Given the description of an element on the screen output the (x, y) to click on. 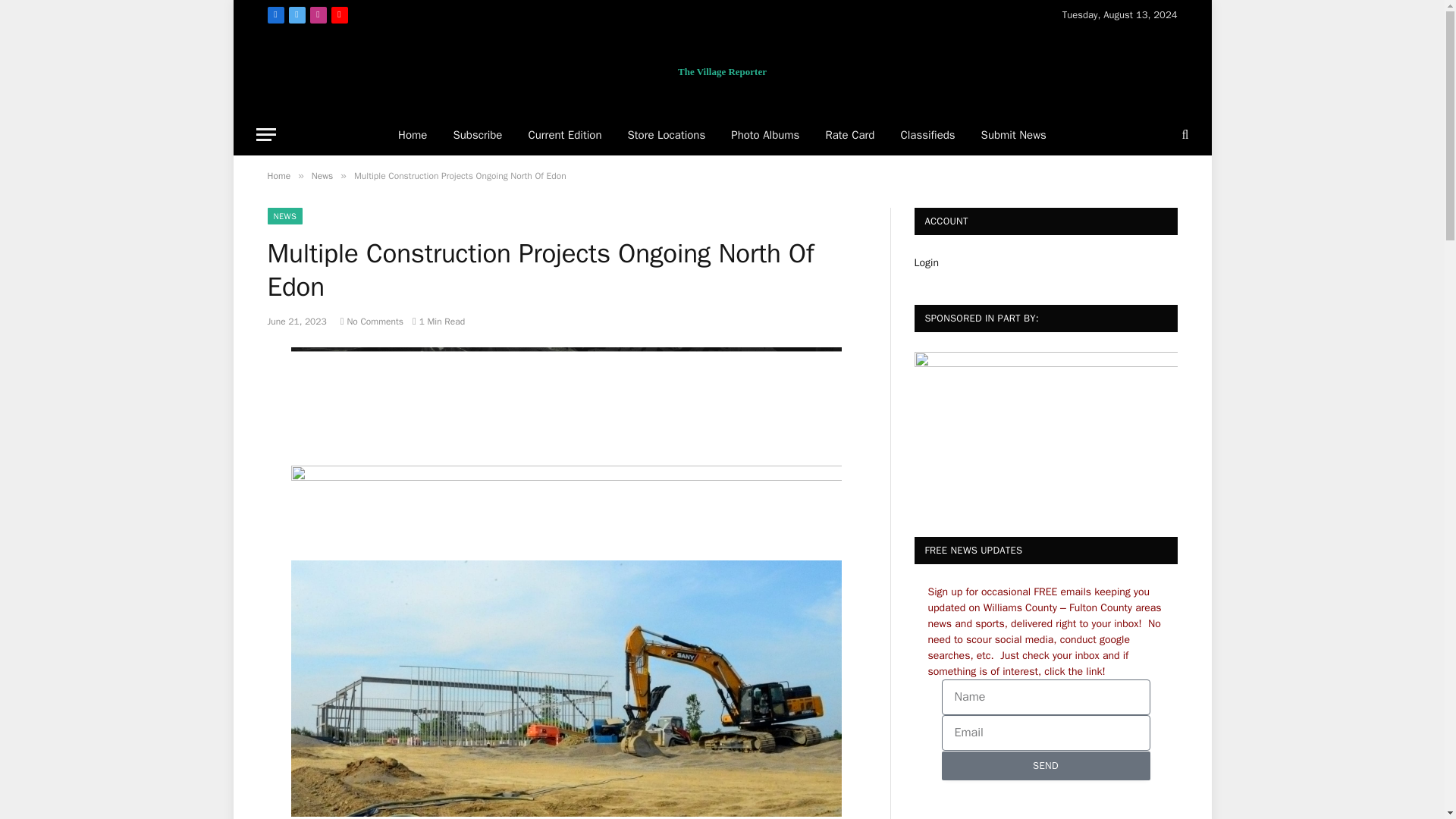
Subscribe (477, 134)
NEWS (284, 216)
Store Locations (665, 134)
Instagram (317, 14)
Home (277, 175)
Photo Albums (764, 134)
Rate Card (849, 134)
News (322, 175)
Home (412, 134)
Facebook (274, 14)
